Given the description of an element on the screen output the (x, y) to click on. 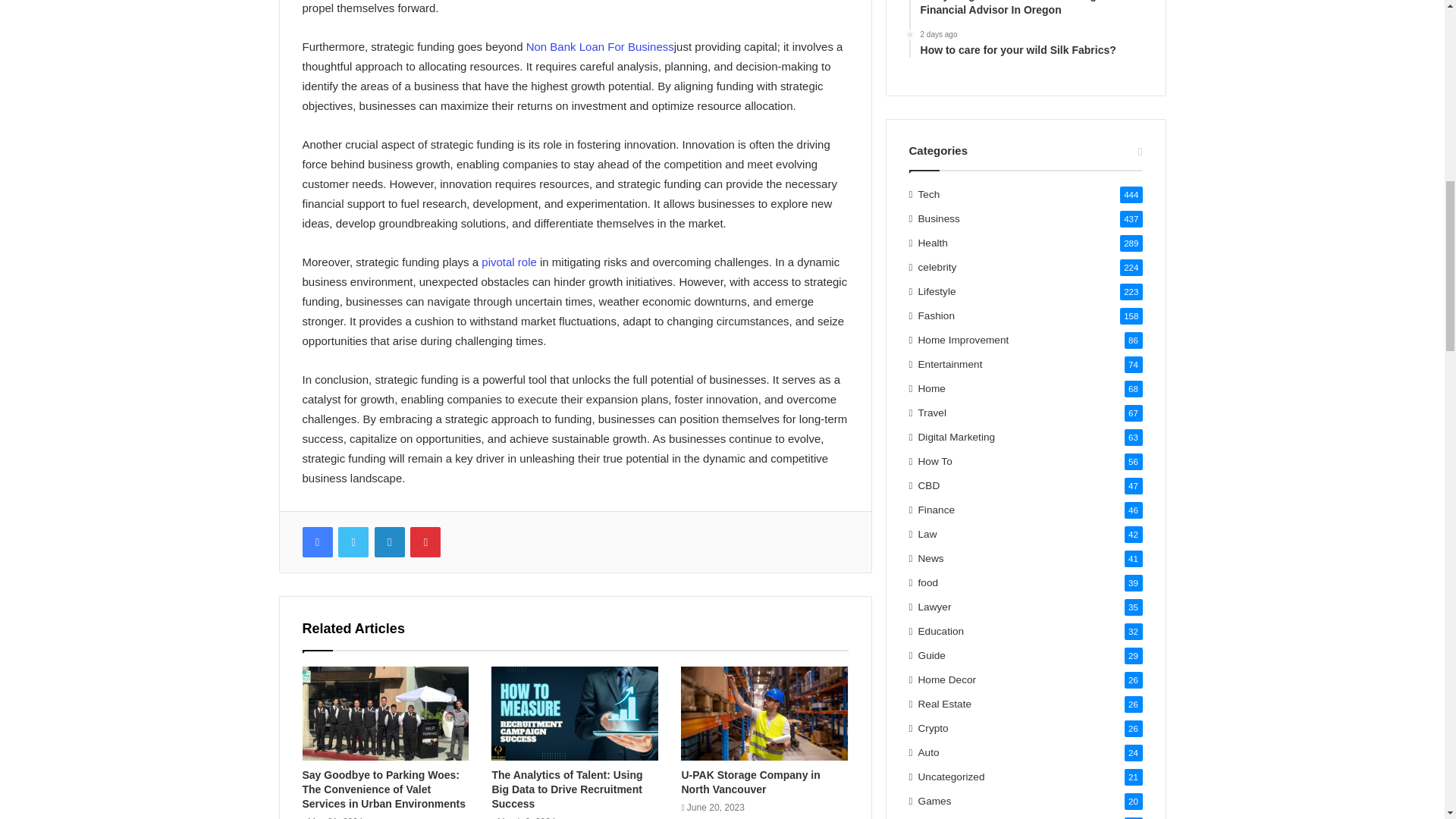
pivotal role (509, 261)
Facebook (316, 542)
LinkedIn (389, 542)
Twitter (352, 542)
LinkedIn (389, 542)
Non Bank Loan For Business (598, 46)
Pinterest (425, 542)
Facebook (316, 542)
U-PAK Storage Company in North Vancouver (750, 782)
Twitter (352, 542)
Pinterest (425, 542)
